Given the description of an element on the screen output the (x, y) to click on. 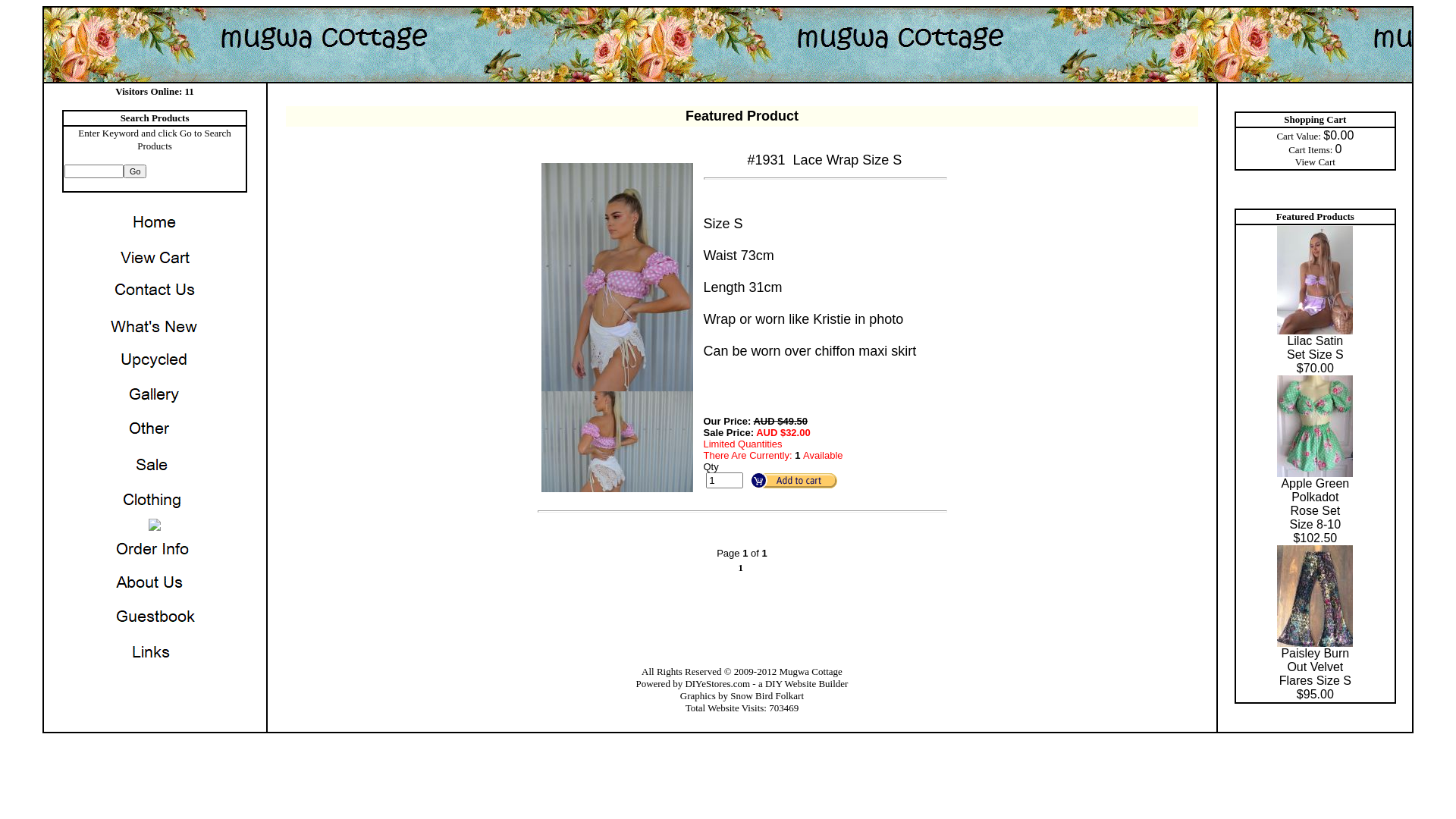
DIYeStores.com - a DIY Website Builder Element type: text (765, 683)
Snow Bird Folkart Element type: text (766, 695)
View Cart Element type: text (1315, 161)
Go Element type: text (134, 171)
